Given the description of an element on the screen output the (x, y) to click on. 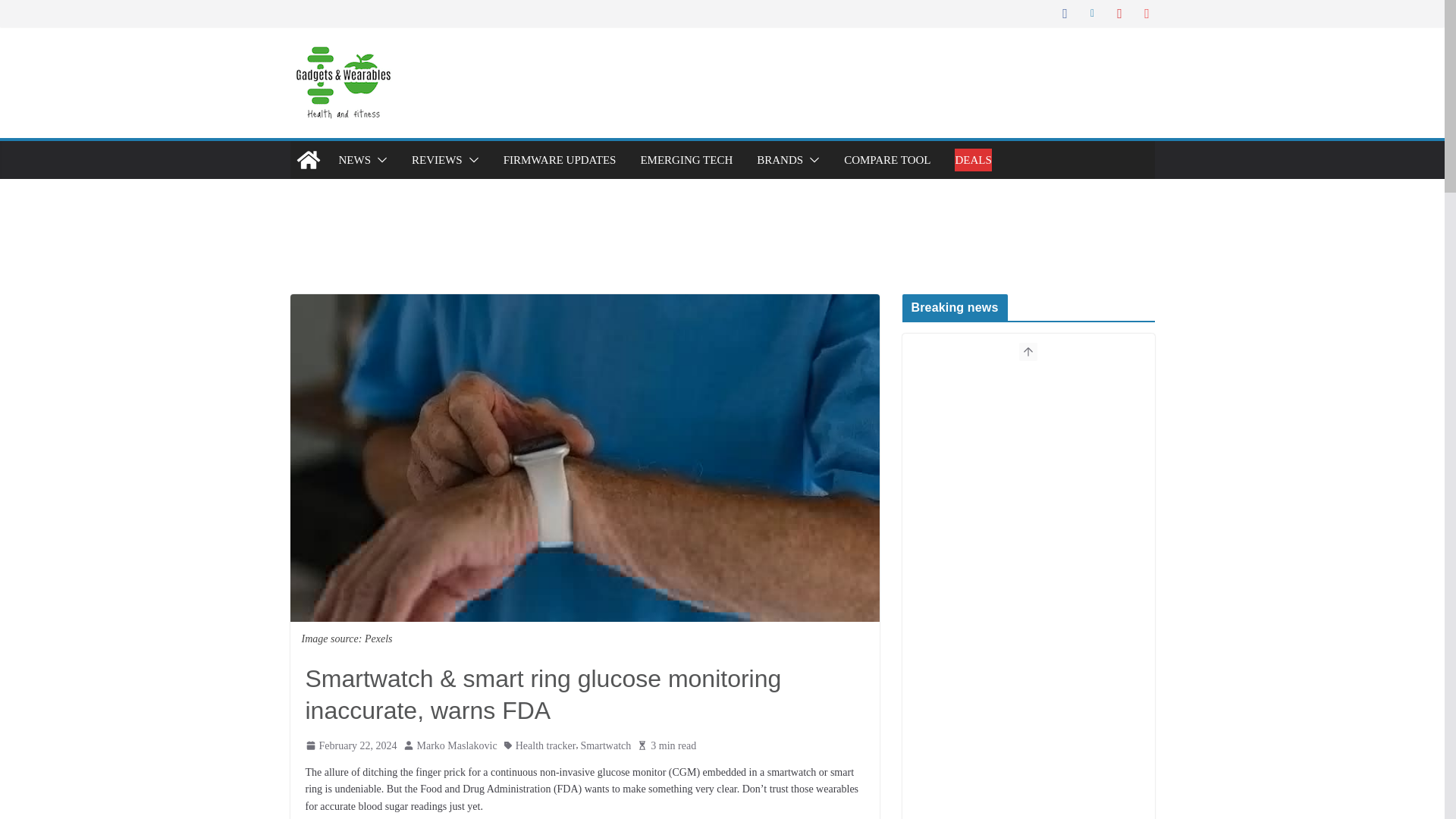
BRANDS (780, 159)
EMERGING TECH (686, 159)
FIRMWARE UPDATES (559, 159)
5:37 pm (350, 745)
NEWS (354, 159)
Marko Maslakovic (456, 745)
REVIEWS (437, 159)
